Given the description of an element on the screen output the (x, y) to click on. 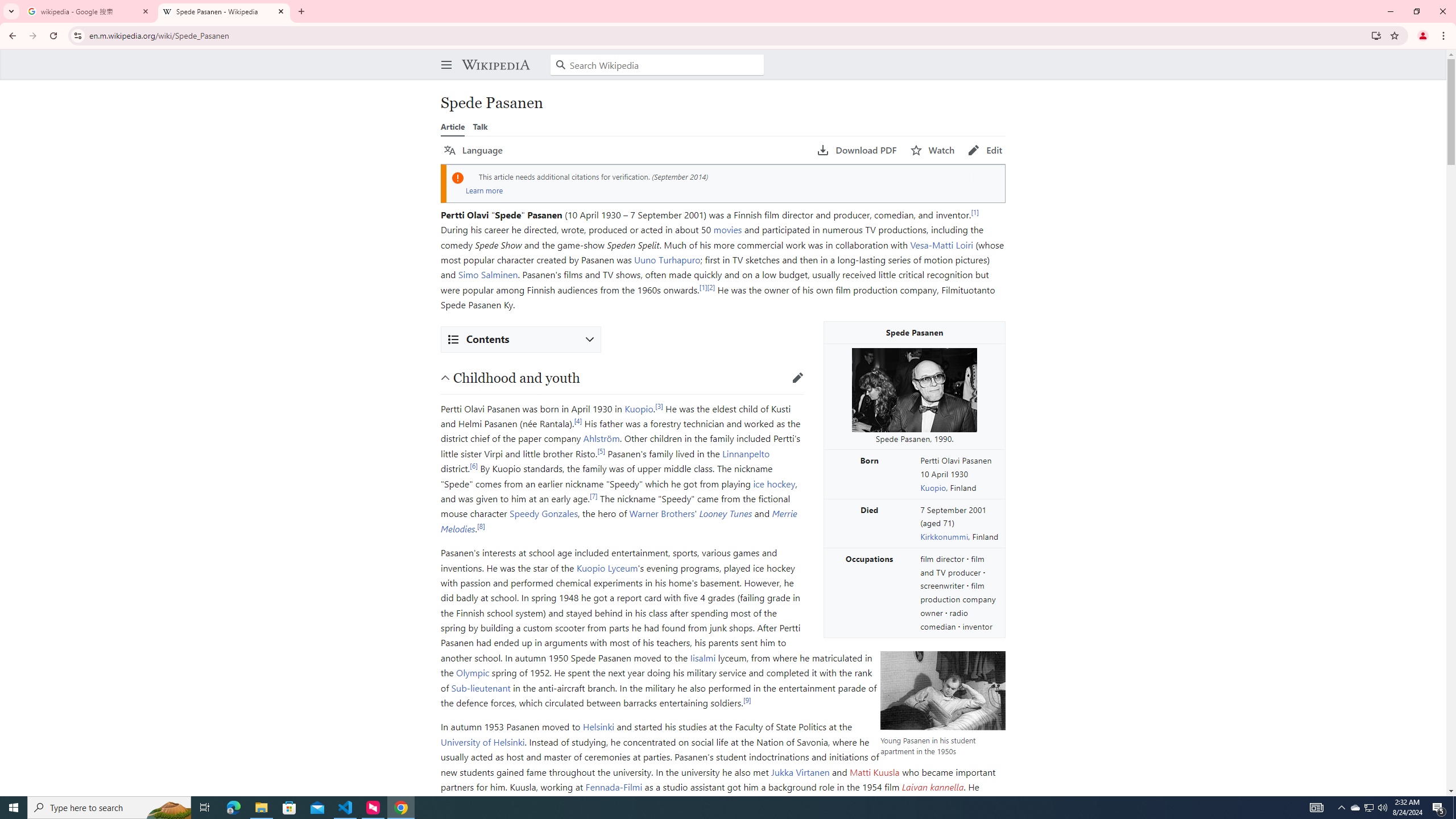
[8] (480, 525)
verification (629, 176)
Laivan kannella (932, 786)
Olympic (472, 672)
